Given the description of an element on the screen output the (x, y) to click on. 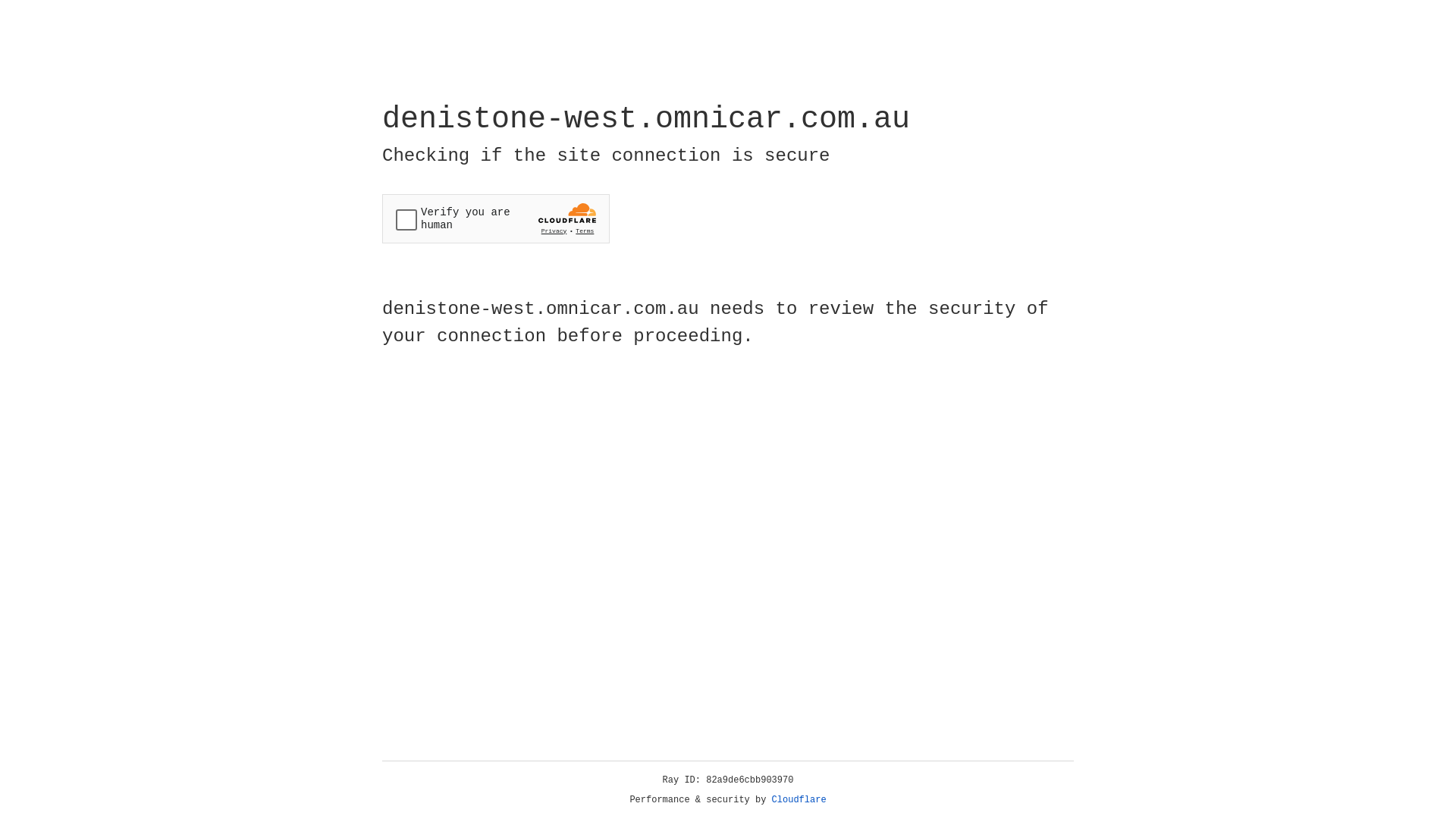
Cloudflare Element type: text (798, 799)
Widget containing a Cloudflare security challenge Element type: hover (495, 218)
